Given the description of an element on the screen output the (x, y) to click on. 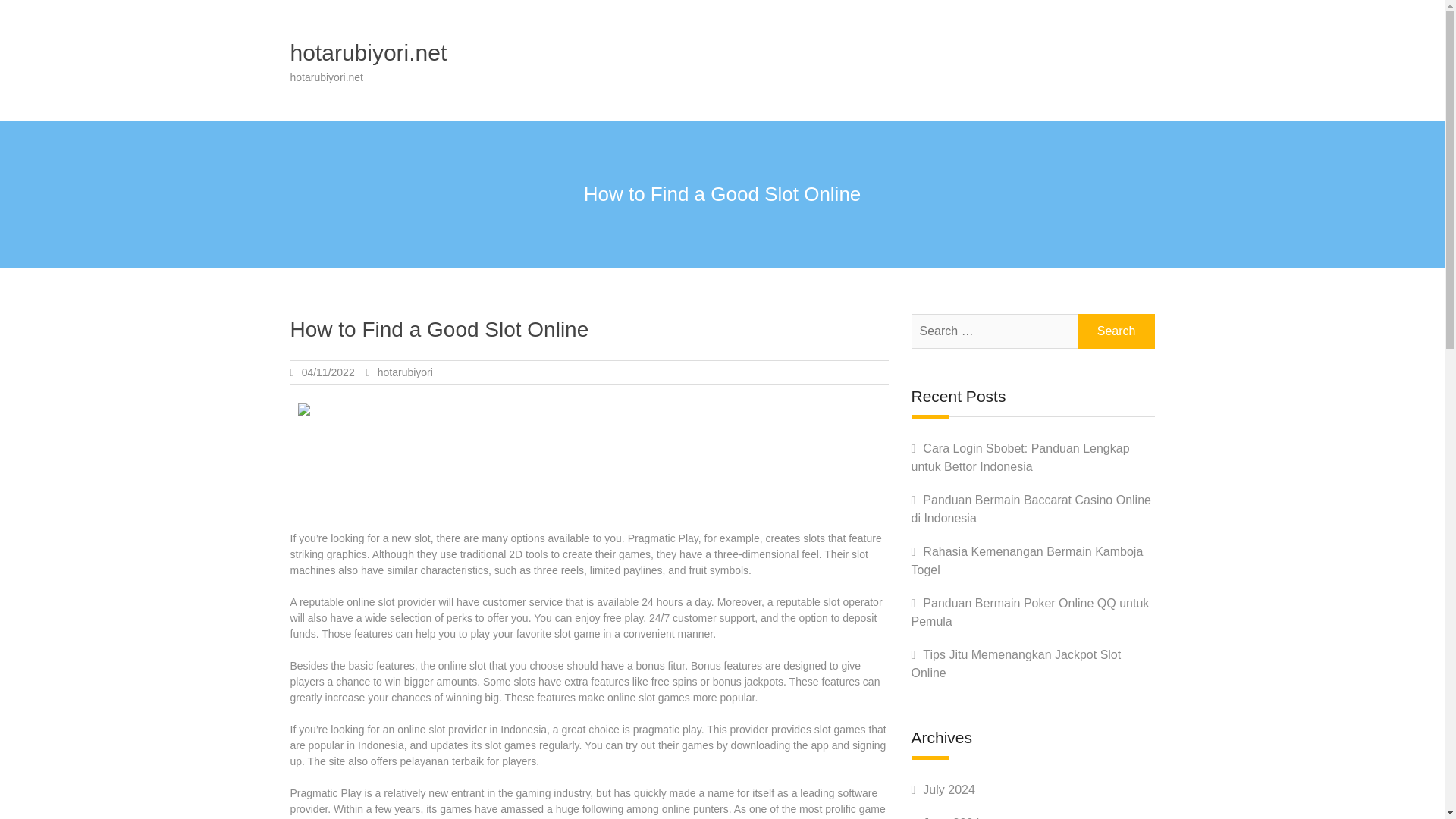
Tips Jitu Memenangkan Jackpot Slot Online (1016, 663)
Panduan Bermain Baccarat Casino Online di Indonesia (1031, 508)
Cara Login Sbobet: Panduan Lengkap untuk Bettor Indonesia (1020, 457)
Rahasia Kemenangan Bermain Kamboja Togel (1026, 560)
Search (1116, 330)
hotarubiyori (404, 372)
hotarubiyori.net (367, 52)
July 2024 (949, 789)
Search (1116, 330)
Panduan Bermain Poker Online QQ untuk Pemula (1030, 612)
June 2024 (951, 817)
Search (1116, 330)
